Given the description of an element on the screen output the (x, y) to click on. 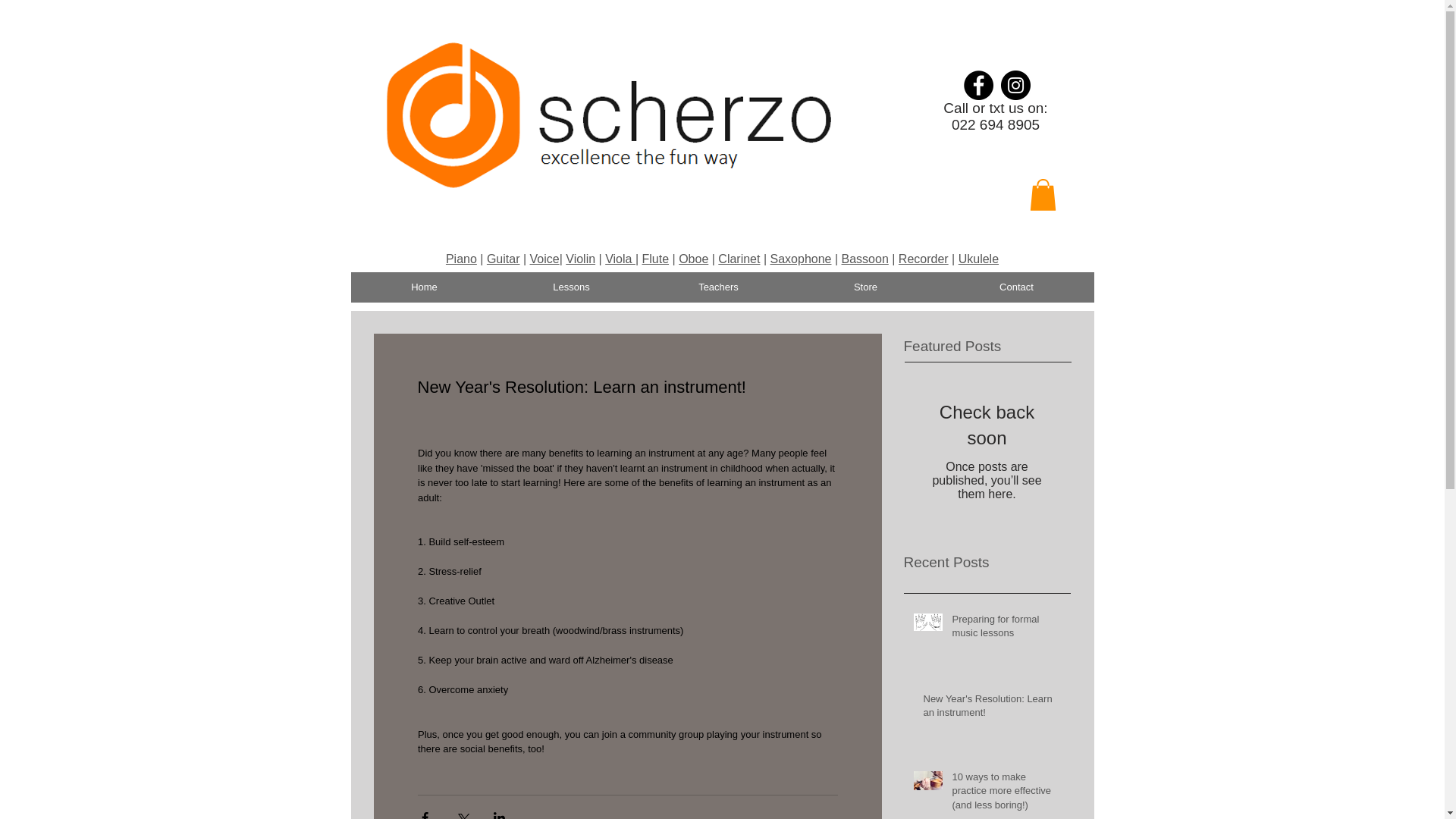
Flute (655, 258)
Viola  (619, 258)
Voice (544, 258)
Bassoon (864, 258)
Piano (461, 258)
Guitar (502, 258)
New Year's Resolution: Learn an instrument! (992, 708)
Contact (1016, 286)
Home (423, 286)
Store (865, 286)
